Given the description of an element on the screen output the (x, y) to click on. 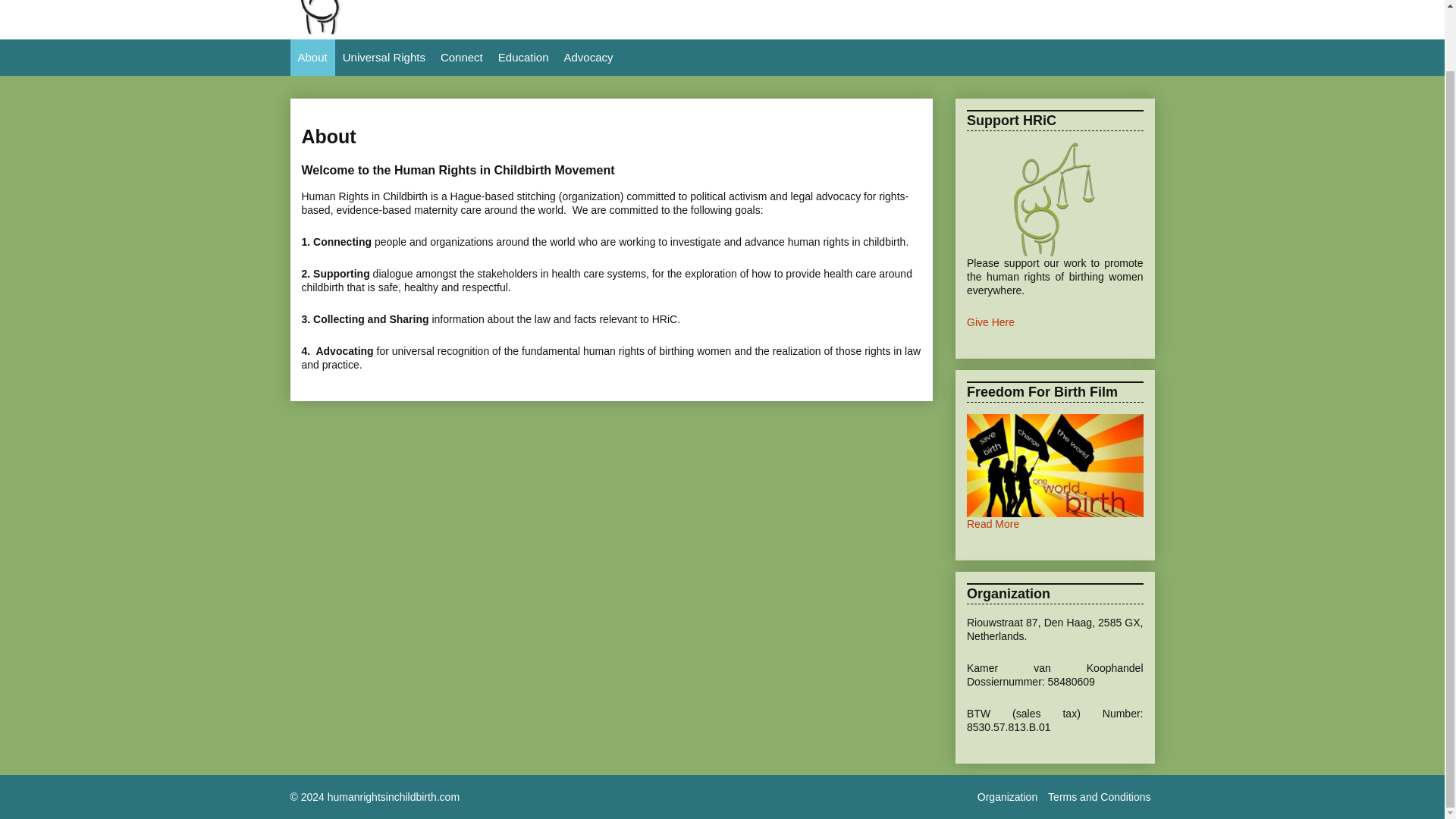
Organization (1007, 796)
Terms and Conditions (1098, 796)
Advocacy (588, 57)
Logo (333, 32)
About (311, 57)
Read More (992, 523)
Universal Rights (383, 57)
Connect (461, 57)
Education (523, 57)
Give Here (990, 322)
